Given the description of an element on the screen output the (x, y) to click on. 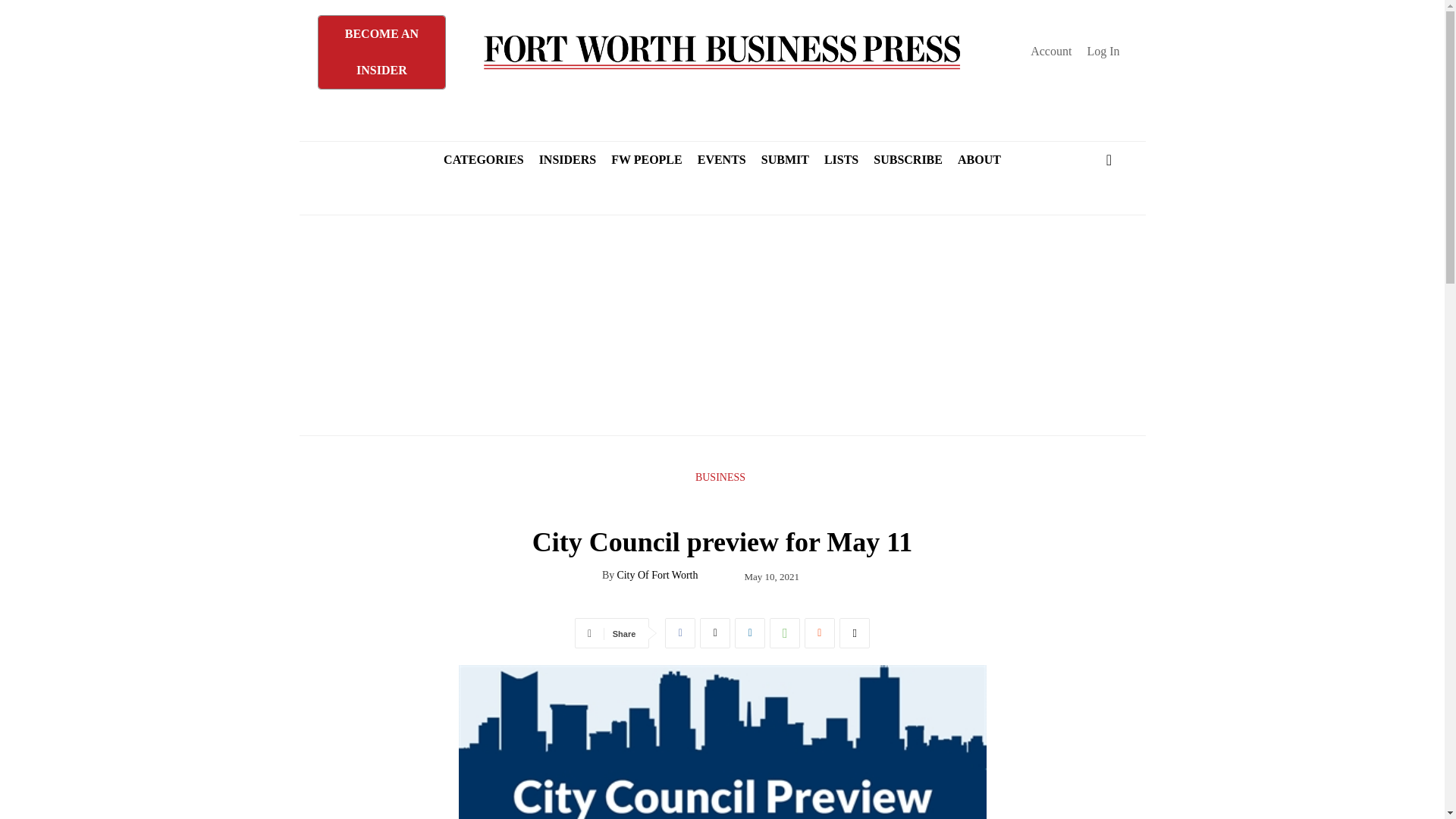
Facebook (680, 633)
WhatsApp (784, 633)
Twitter (715, 633)
ReddIt (819, 633)
Linkedin (750, 633)
